Given the description of an element on the screen output the (x, y) to click on. 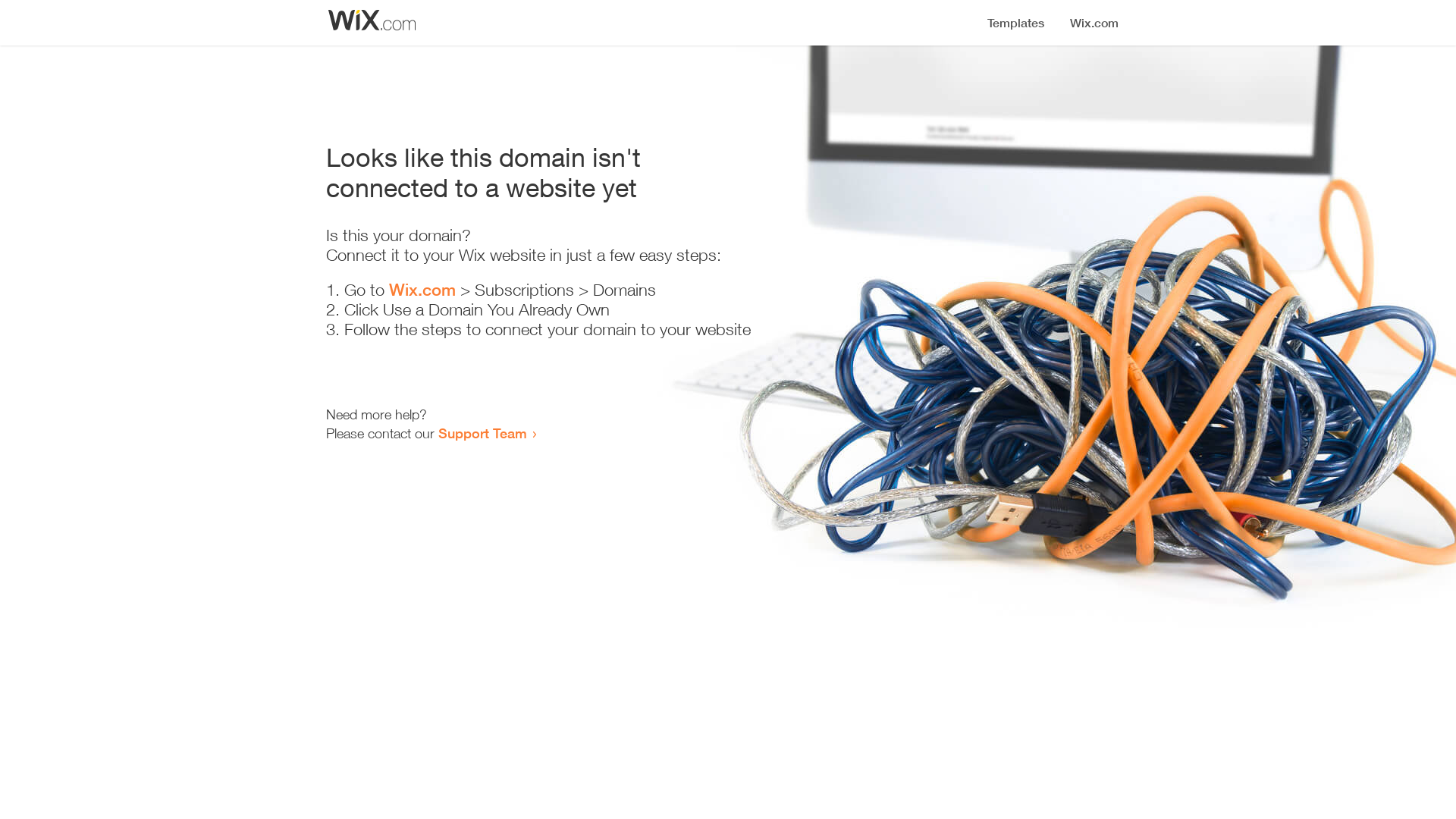
Support Team Element type: text (482, 432)
Wix.com Element type: text (422, 289)
